Given the description of an element on the screen output the (x, y) to click on. 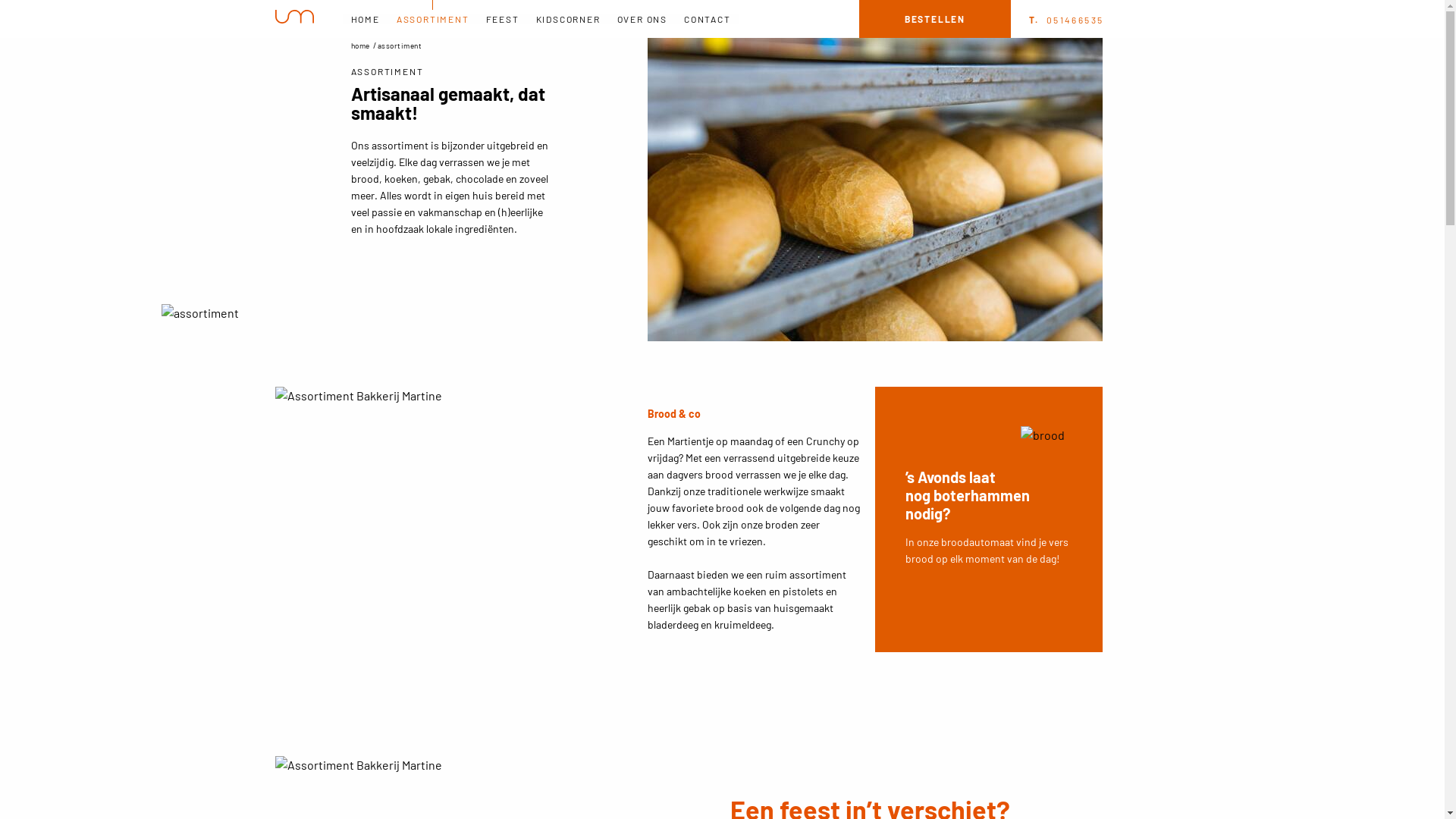
BESTELLEN Element type: text (934, 18)
home Element type: text (359, 45)
051466535 Element type: text (1066, 19)
KIDSCORNER Element type: text (567, 18)
ASSORTIMENT Element type: text (432, 18)
Overslaan en naar de inhoud gaan Element type: text (0, 0)
Home Element type: hover (293, 18)
HOME Element type: text (365, 18)
OVER ONS Element type: text (641, 18)
FEEST Element type: text (502, 18)
assortiment Element type: text (399, 45)
CONTACT Element type: text (707, 18)
